Given the description of an element on the screen output the (x, y) to click on. 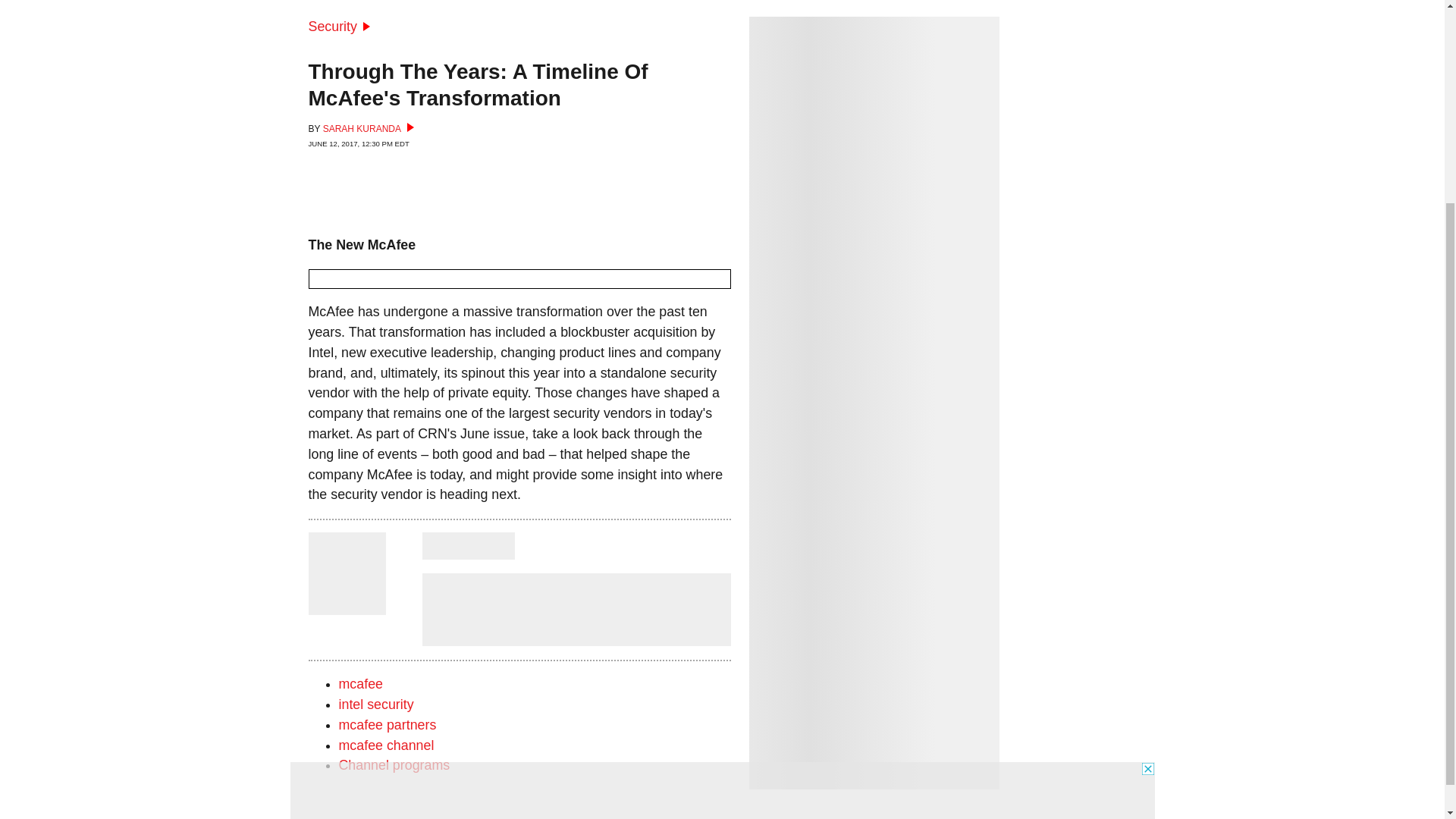
Channel programs (393, 765)
SARAH KURANDA (368, 128)
Security (338, 26)
mcafee partners (386, 724)
mcafee channel (385, 744)
Security (338, 26)
mcafee (359, 683)
AUTHOR NAME (467, 545)
mcafee partners (386, 724)
Channel programs (393, 765)
Author Name (467, 545)
intel security (375, 703)
Author Name (346, 604)
mcafee channel (385, 744)
intel security (375, 703)
